Given the description of an element on the screen output the (x, y) to click on. 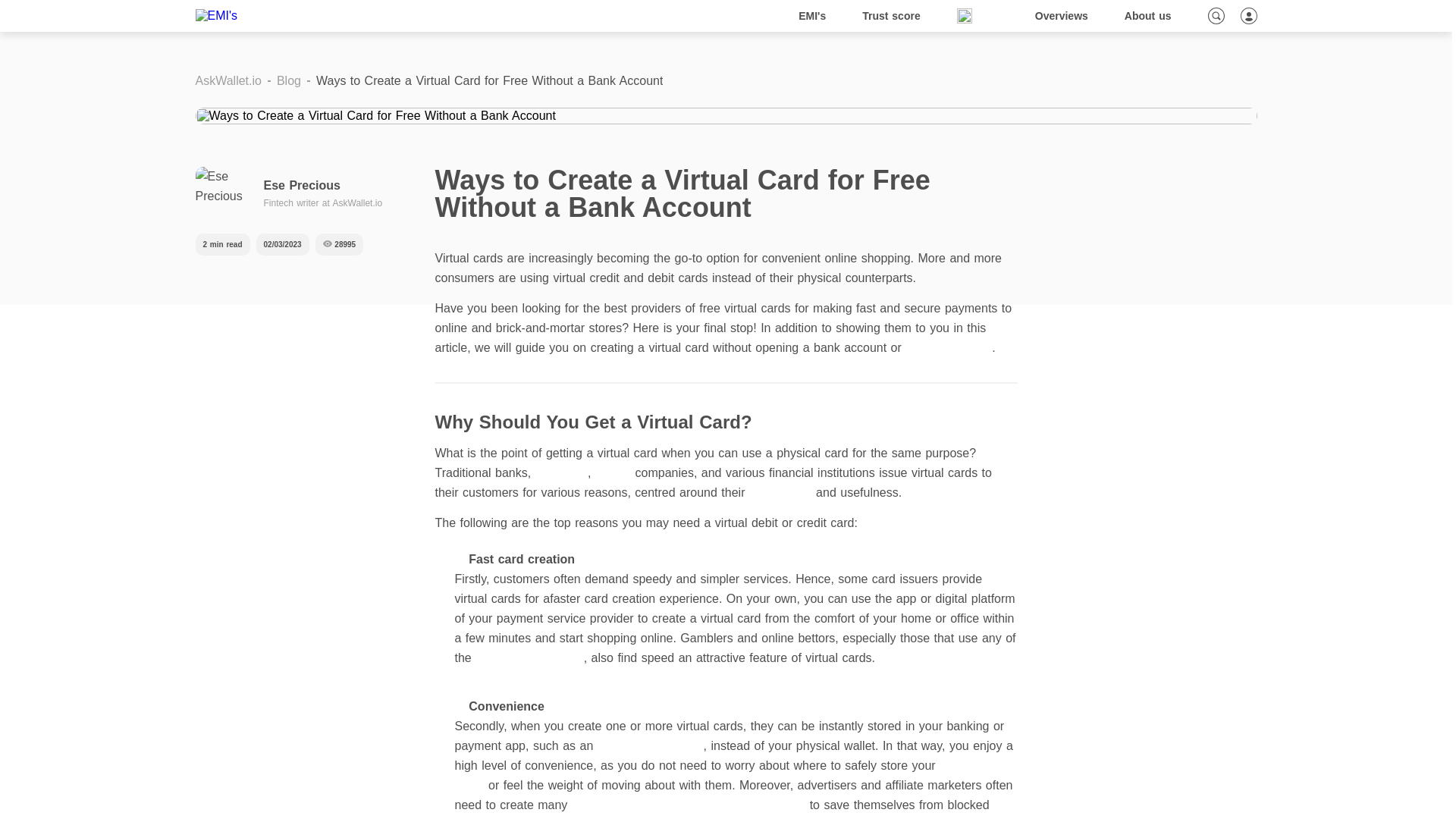
Blog (977, 15)
Blog (288, 80)
neobanks (561, 472)
virtual cards for Facebook and Google Ads (688, 804)
switching banks (948, 347)
top casino e-wallets (529, 657)
Overviews (1061, 15)
About us (1147, 15)
EMI's (812, 15)
payment cards (720, 775)
